Given the description of an element on the screen output the (x, y) to click on. 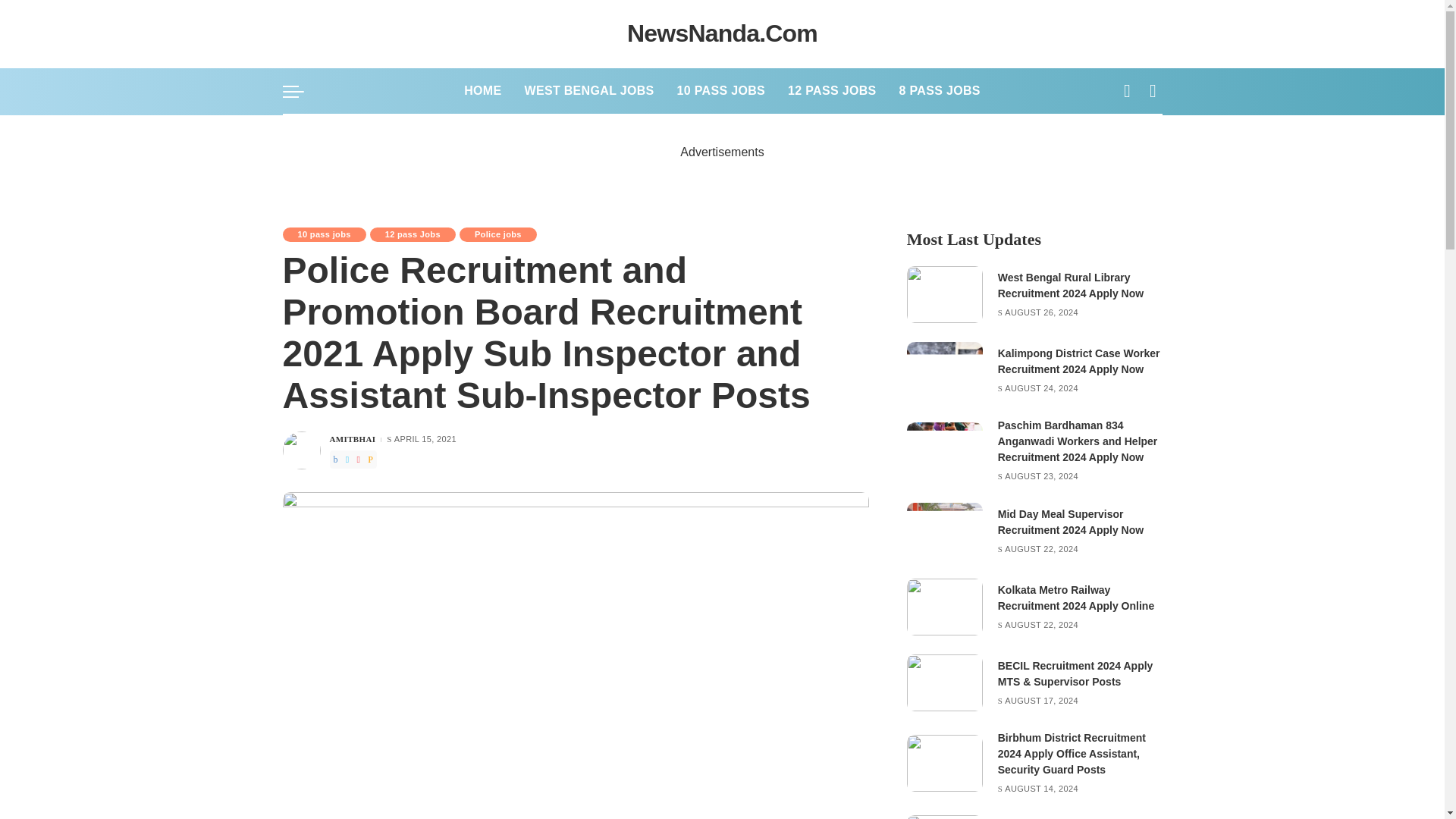
Search (1140, 134)
10 PASS JOBS (720, 90)
12 PASS JOBS (831, 90)
NewsNanda.Com (721, 33)
8 PASS JOBS (939, 90)
NewsNanda.Com (721, 33)
WEST BENGAL JOBS (588, 90)
HOME (482, 90)
